Given the description of an element on the screen output the (x, y) to click on. 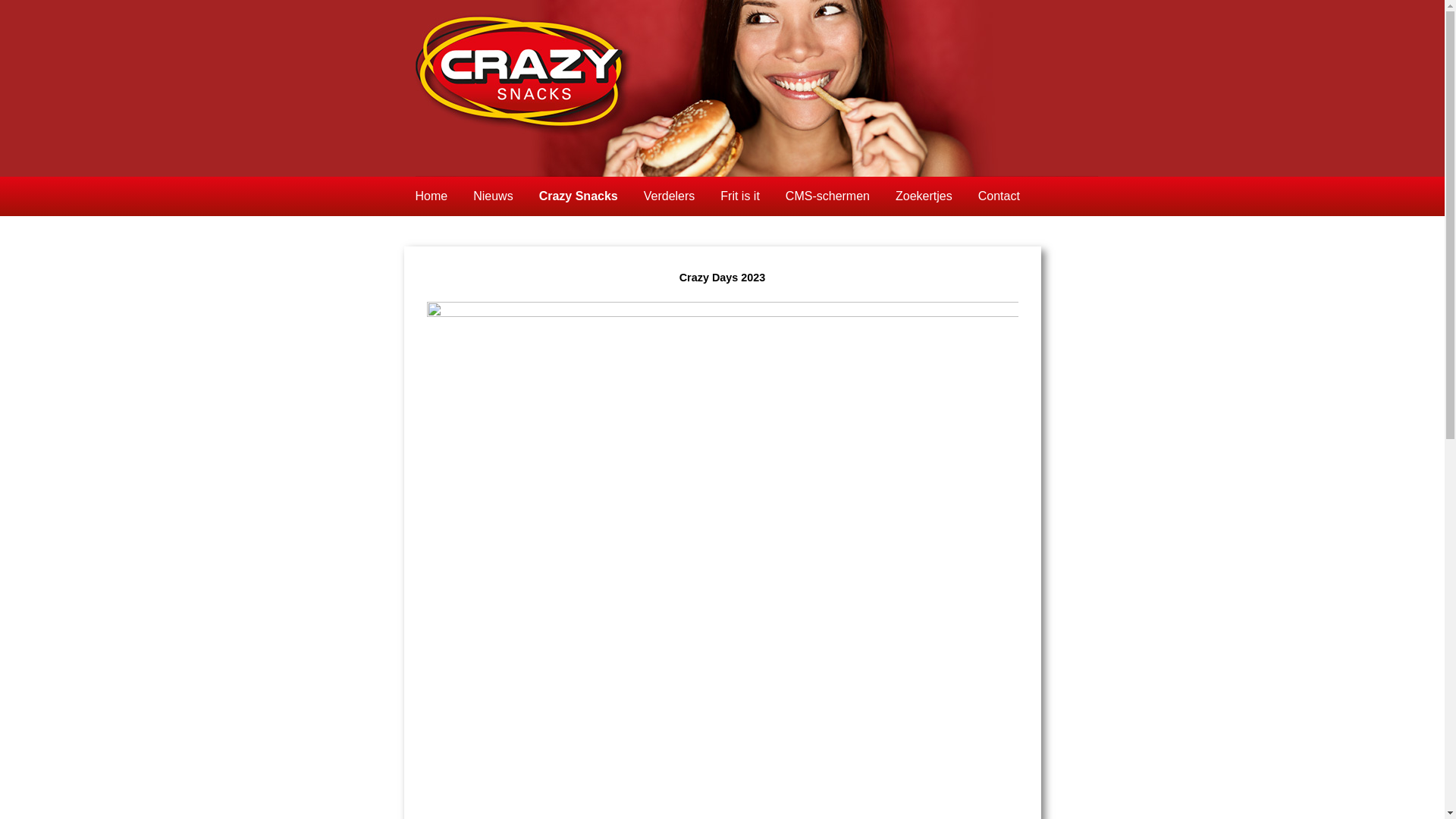
Zoekertjes Element type: text (923, 195)
Contact Element type: text (998, 195)
Nieuws Element type: text (492, 195)
Beheersysteem Element type: text (456, 234)
CMS-schermen Element type: text (827, 195)
Home Element type: text (430, 195)
Verdelers Element type: text (669, 195)
Crazy Snacks Element type: text (578, 195)
Frit is it Element type: text (740, 195)
